Given the description of an element on the screen output the (x, y) to click on. 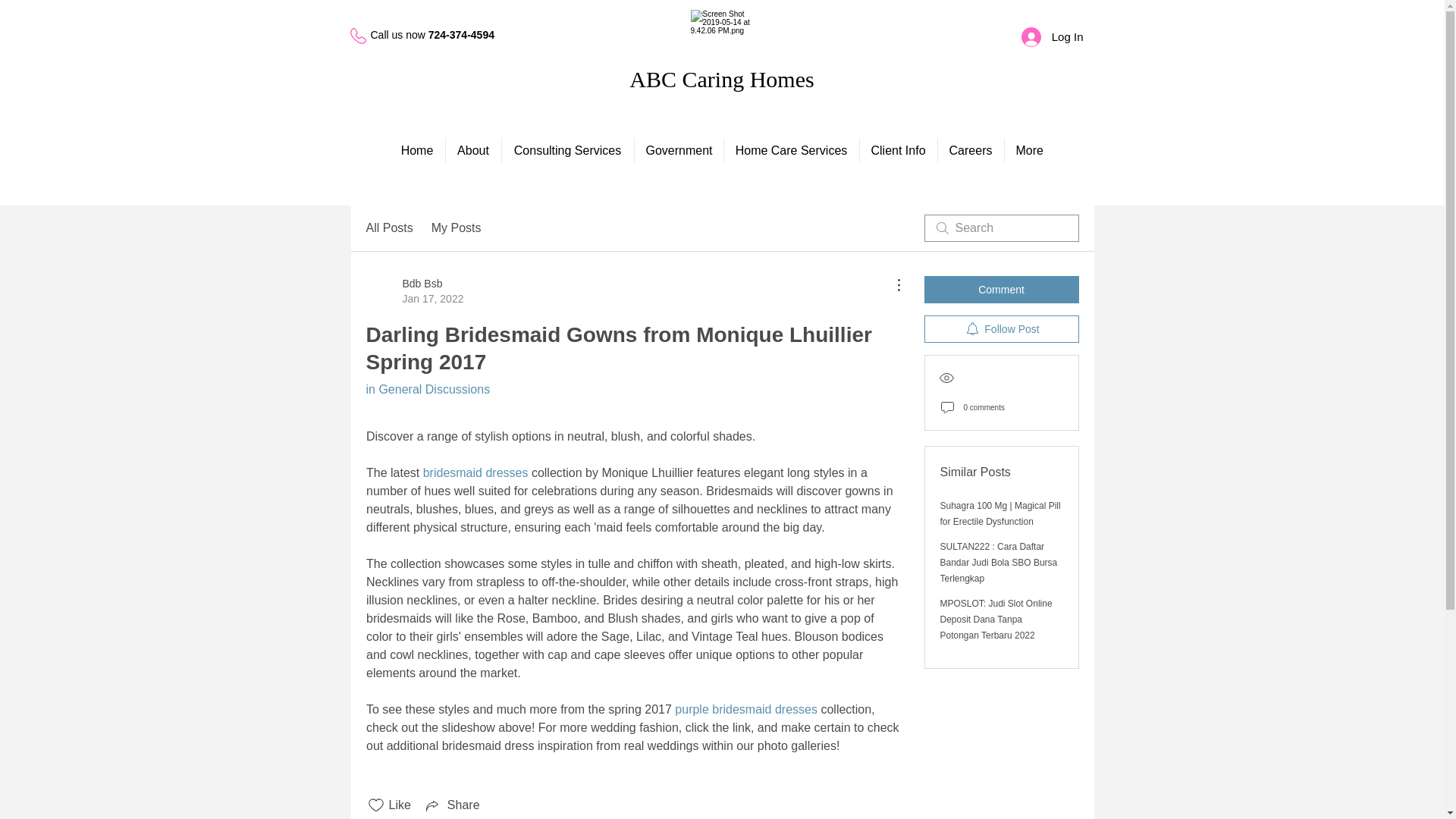
Comment (1000, 289)
purple bridesmaid dresses (414, 291)
All Posts (745, 708)
Client Info (388, 228)
Call us now  (898, 150)
Careers (398, 34)
Home Care Services (970, 150)
My Posts (791, 150)
in General Discussions (455, 228)
